Given the description of an element on the screen output the (x, y) to click on. 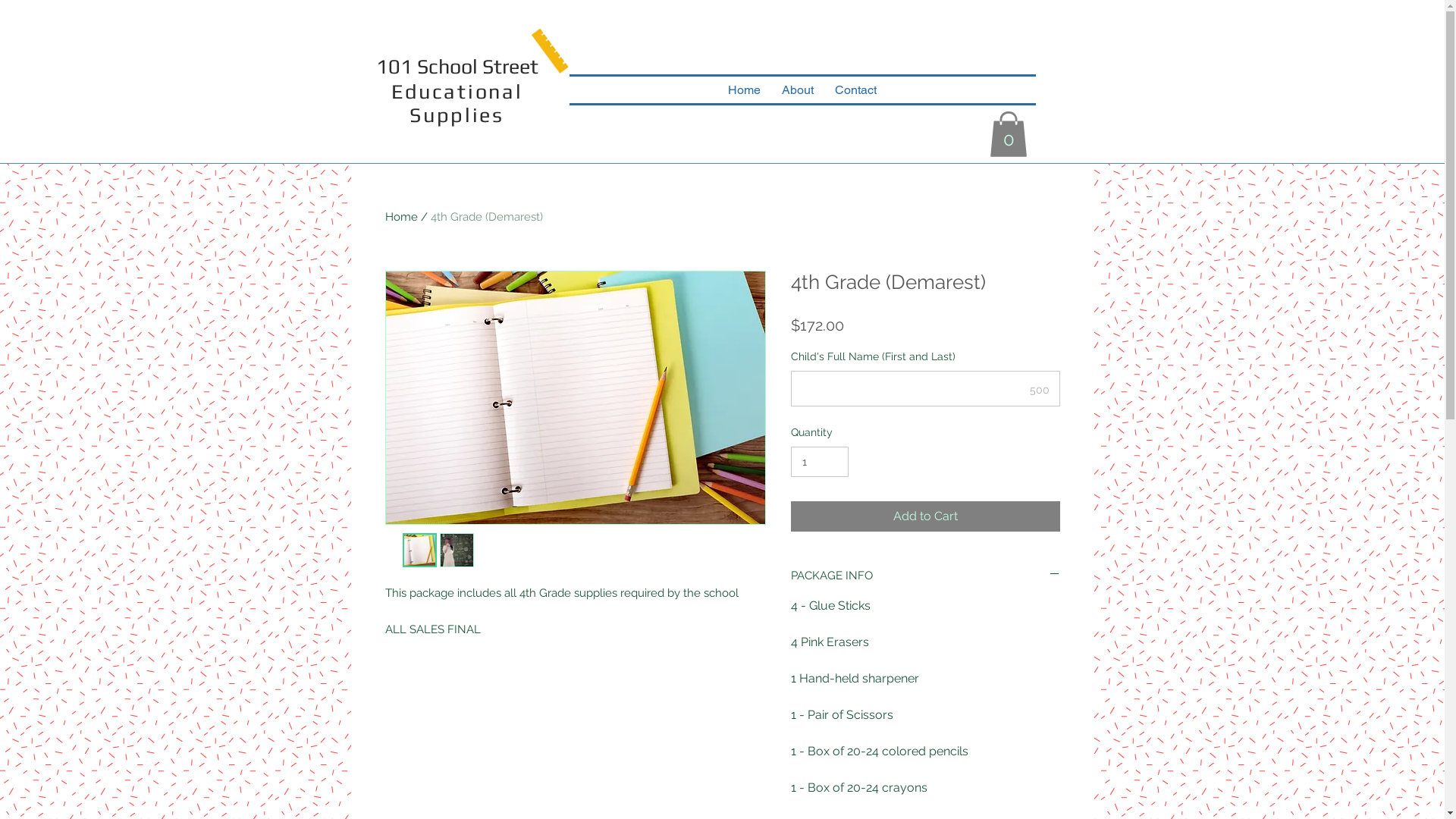
PACKAGE INFO Element type: text (924, 575)
4th Grade (Demarest) Element type: text (486, 216)
Contact Element type: text (855, 89)
101 School Street Element type: text (457, 66)
Educational Supplies Element type: text (457, 102)
About Element type: text (797, 89)
Home Element type: text (401, 216)
Home Element type: text (744, 89)
0 Element type: text (1007, 133)
Add to Cart Element type: text (924, 516)
